Given the description of an element on the screen output the (x, y) to click on. 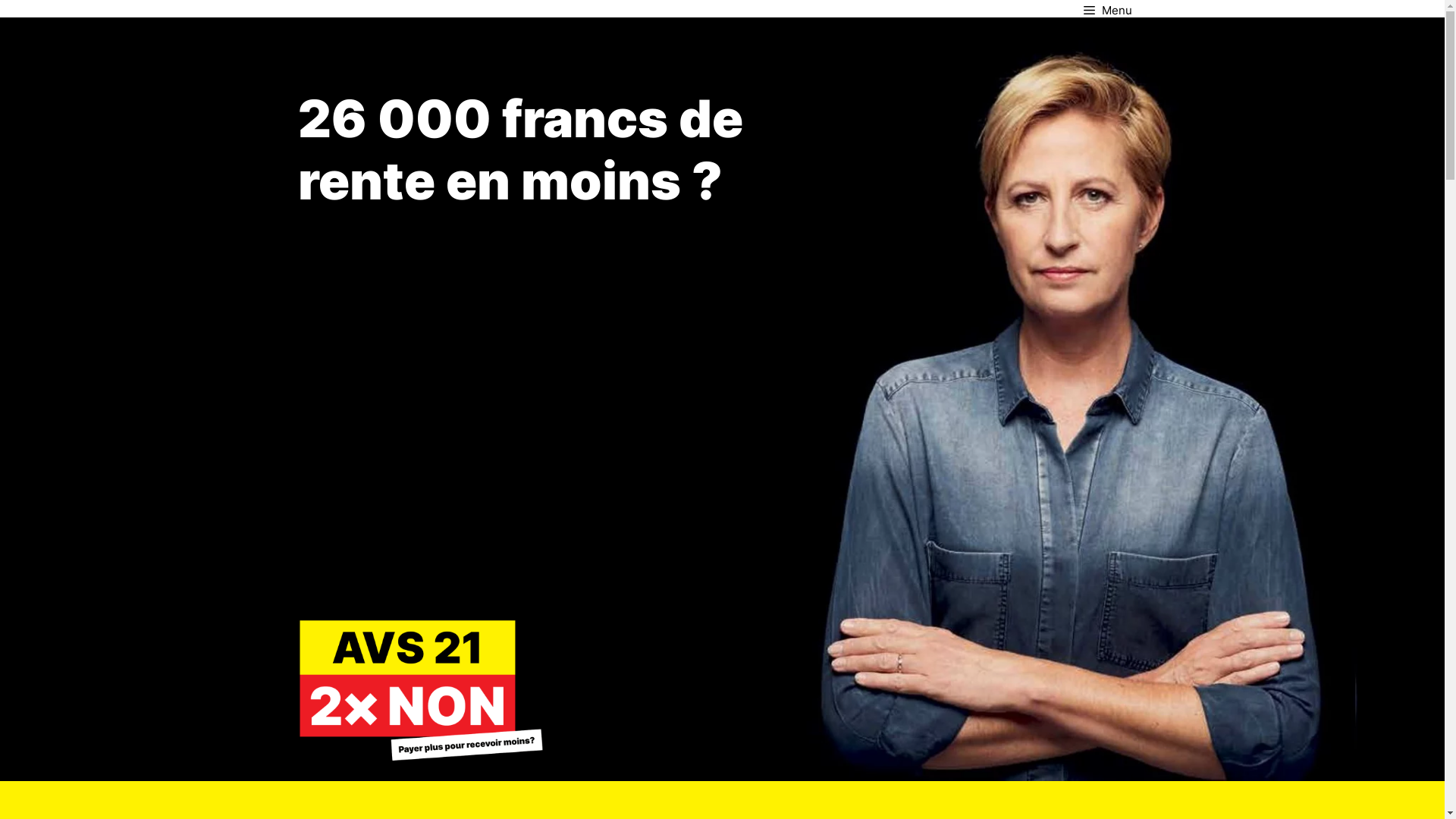
Menu Element type: text (1106, 8)
26 000 francs de rente en moins Element type: text (519, 149)
